Given the description of an element on the screen output the (x, y) to click on. 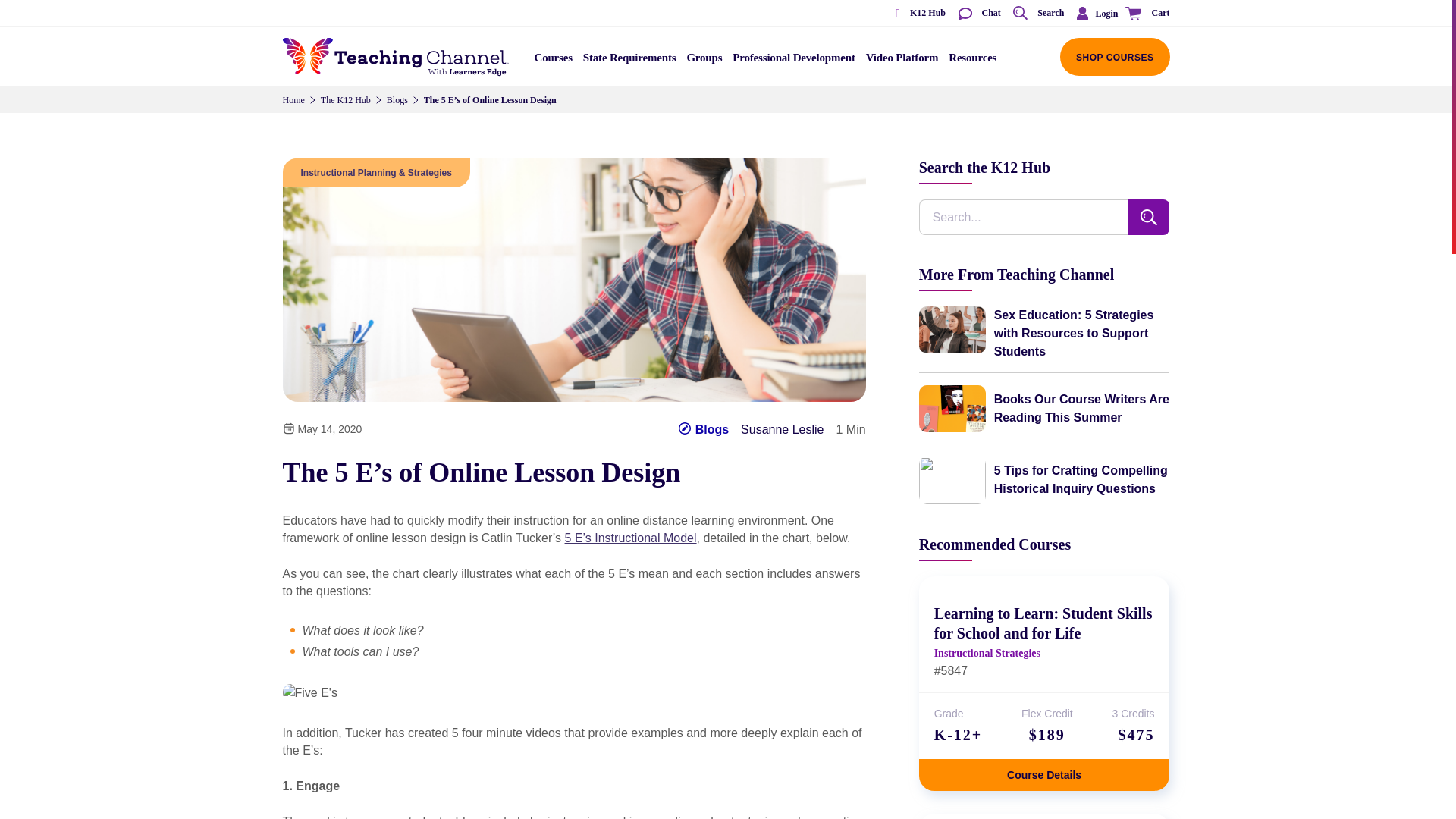
State Requirements (629, 62)
K12 Hub (914, 13)
Cart (1145, 13)
Search (1037, 13)
Chat (978, 13)
Courses (553, 62)
Login (1093, 12)
